Given the description of an element on the screen output the (x, y) to click on. 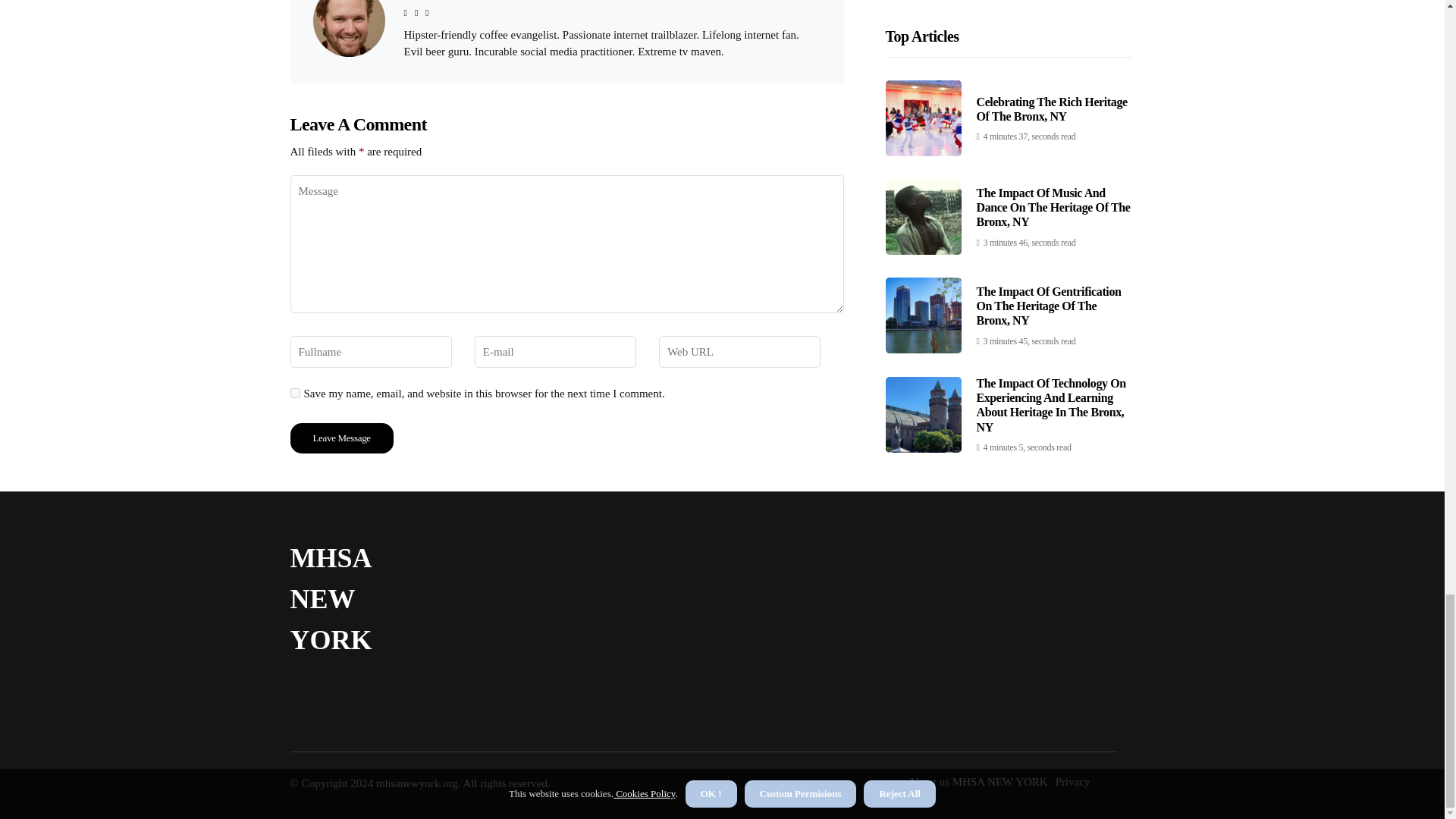
Leave Message (341, 438)
Leave Message (341, 438)
yes (294, 393)
